Given the description of an element on the screen output the (x, y) to click on. 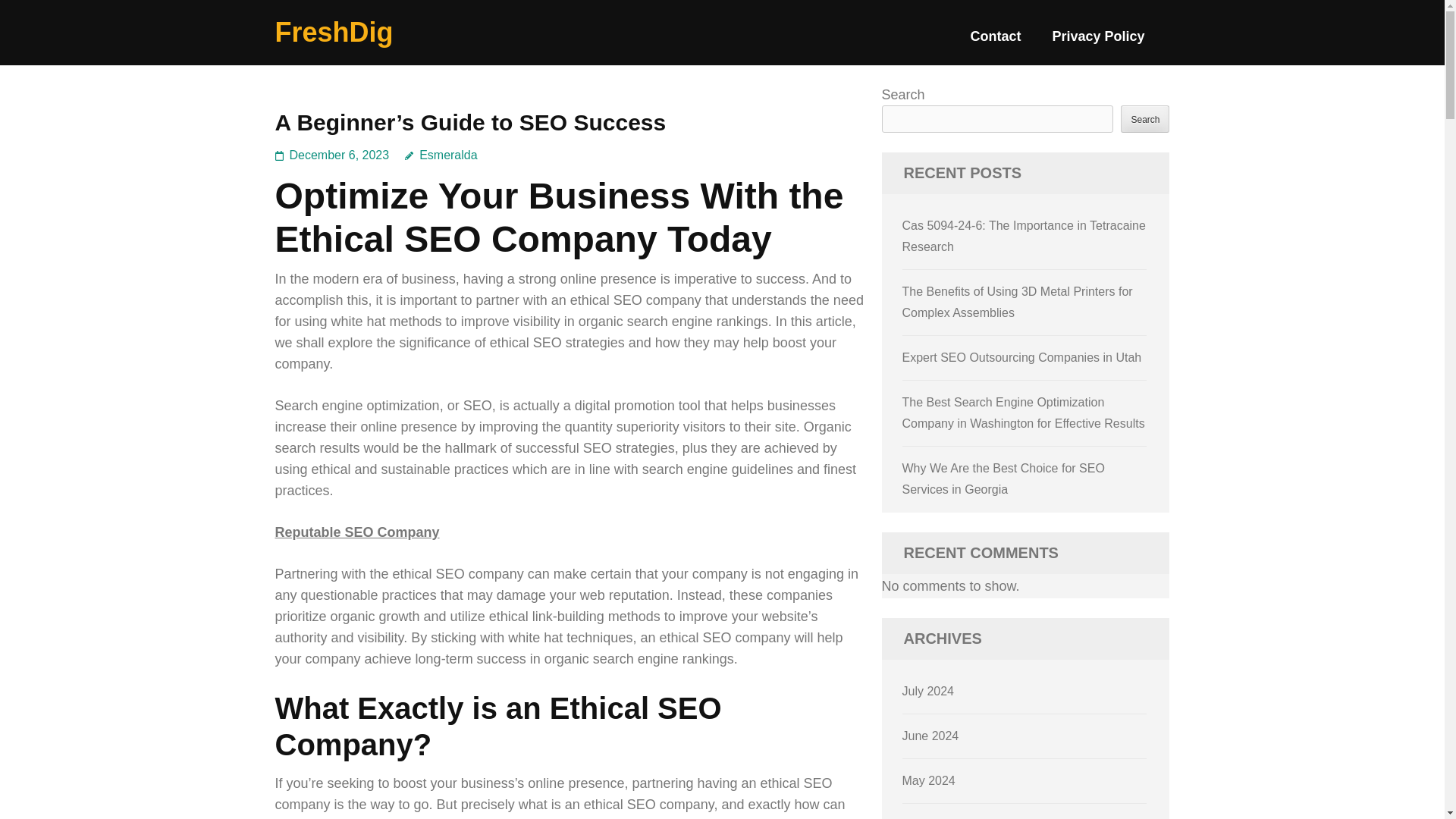
June 2024 (930, 735)
Why We Are the Best Choice for SEO Services in Georgia (1003, 478)
May 2024 (928, 780)
Cas 5094-24-6: The Importance in Tetracaine Research (1023, 236)
July 2024 (928, 690)
FreshDig (334, 31)
December 6, 2023 (339, 154)
Privacy Policy (1097, 42)
Contact (994, 42)
Search (1145, 118)
Esmeralda (440, 154)
Expert SEO Outsourcing Companies in Utah (1021, 357)
Reputable SEO Company (357, 531)
